Given the description of an element on the screen output the (x, y) to click on. 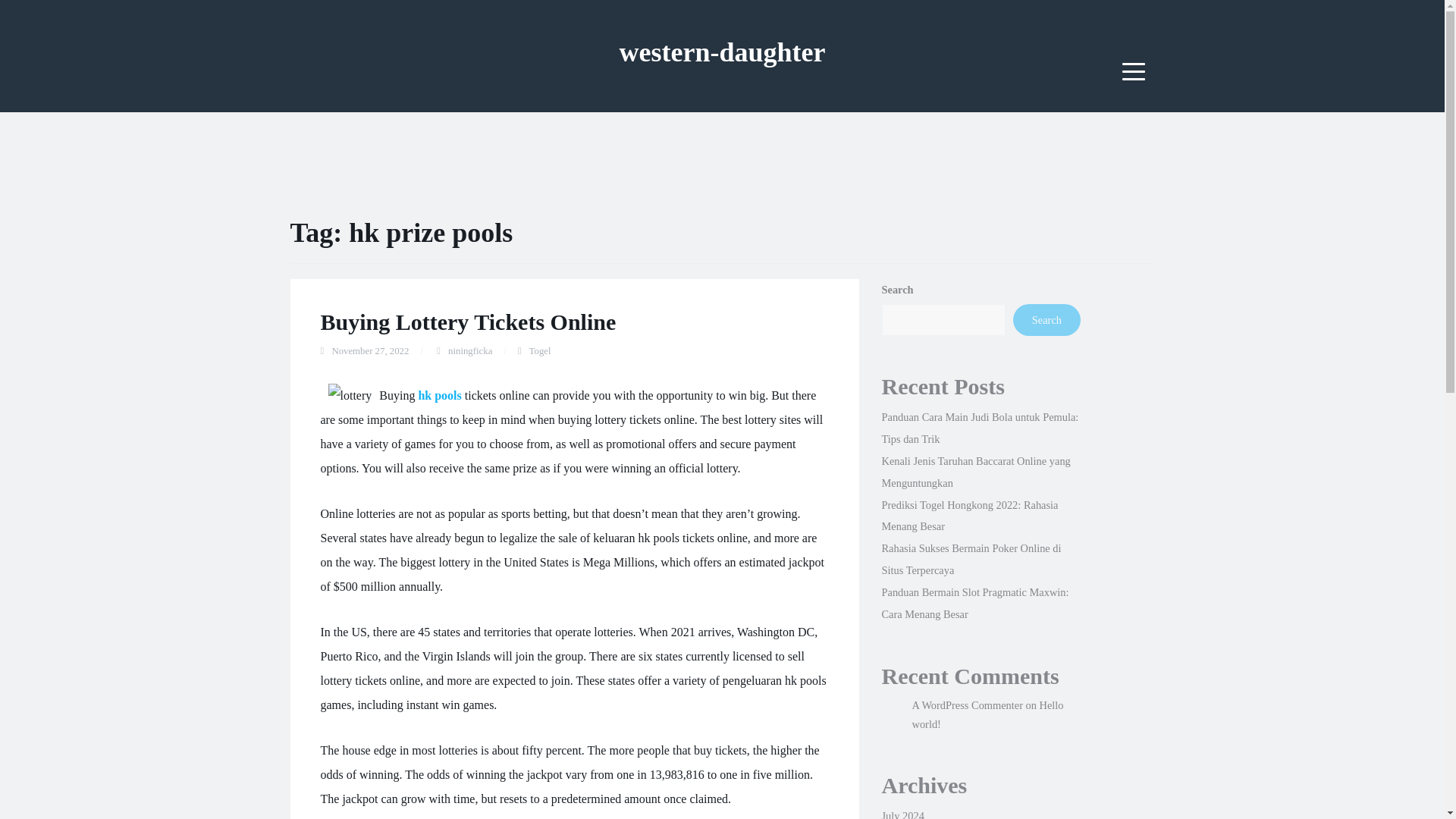
Hello world! (986, 715)
Rahasia Sukses Bermain Poker Online di Situs Terpercaya (970, 559)
Menu (1133, 71)
Panduan Cara Main Judi Bola untuk Pemula: Tips dan Trik (979, 428)
Search (1046, 319)
November 27, 2022 (370, 350)
western-daughter (721, 51)
Kenali Jenis Taruhan Baccarat Online yang Menguntungkan (975, 471)
July 2024 (901, 814)
niningficka (470, 350)
hk pools (439, 395)
Togel (540, 350)
Prediksi Togel Hongkong 2022: Rahasia Menang Besar (969, 515)
Buying Lottery Tickets Online (467, 321)
Panduan Bermain Slot Pragmatic Maxwin: Cara Menang Besar (974, 602)
